Given the description of an element on the screen output the (x, y) to click on. 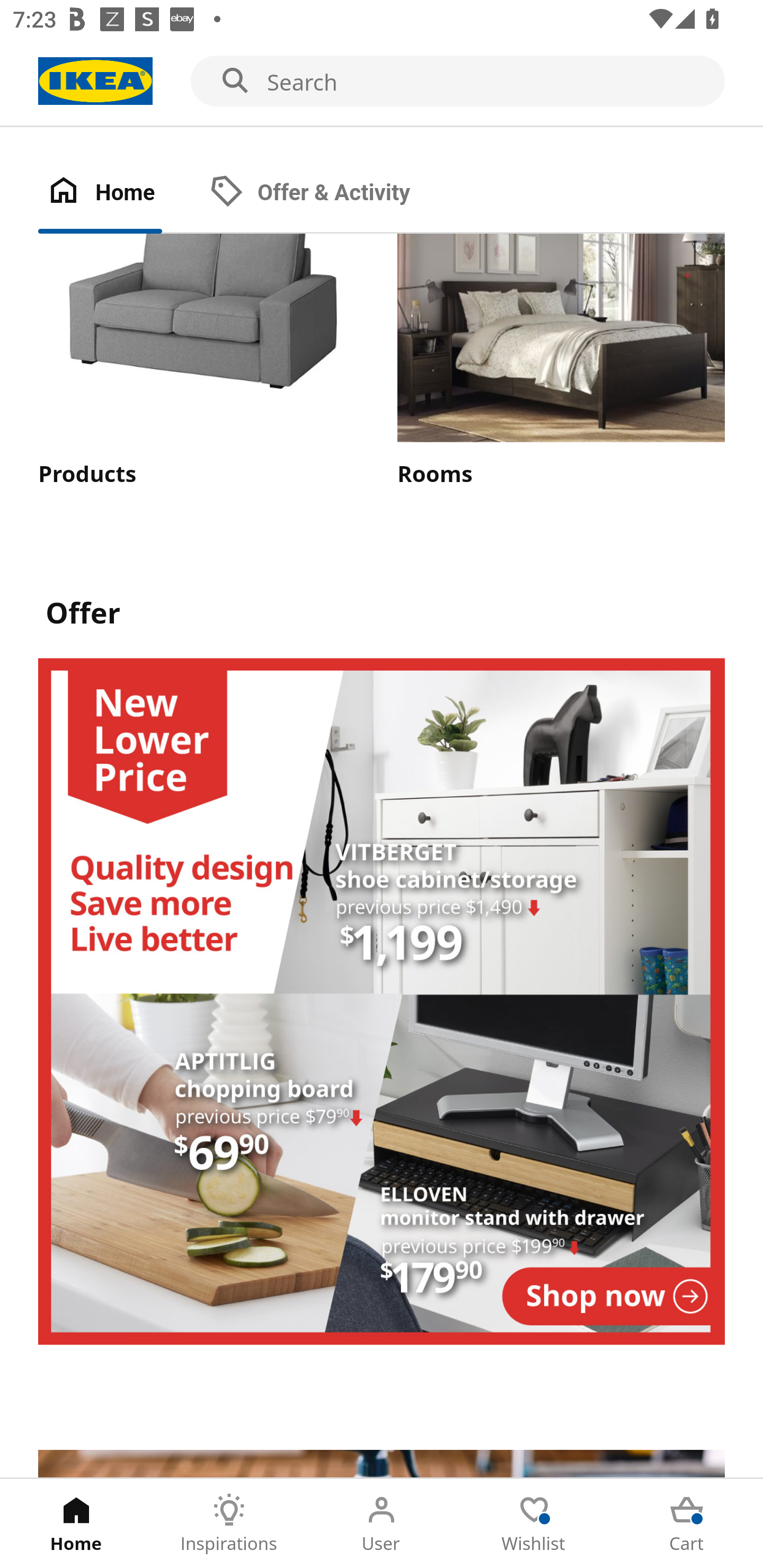
Search (381, 81)
Home
Tab 1 of 2 (118, 192)
Offer & Activity
Tab 2 of 2 (327, 192)
Products (201, 361)
Rooms (560, 361)
Home
Tab 1 of 5 (76, 1522)
Inspirations
Tab 2 of 5 (228, 1522)
User
Tab 3 of 5 (381, 1522)
Wishlist
Tab 4 of 5 (533, 1522)
Cart
Tab 5 of 5 (686, 1522)
